Given the description of an element on the screen output the (x, y) to click on. 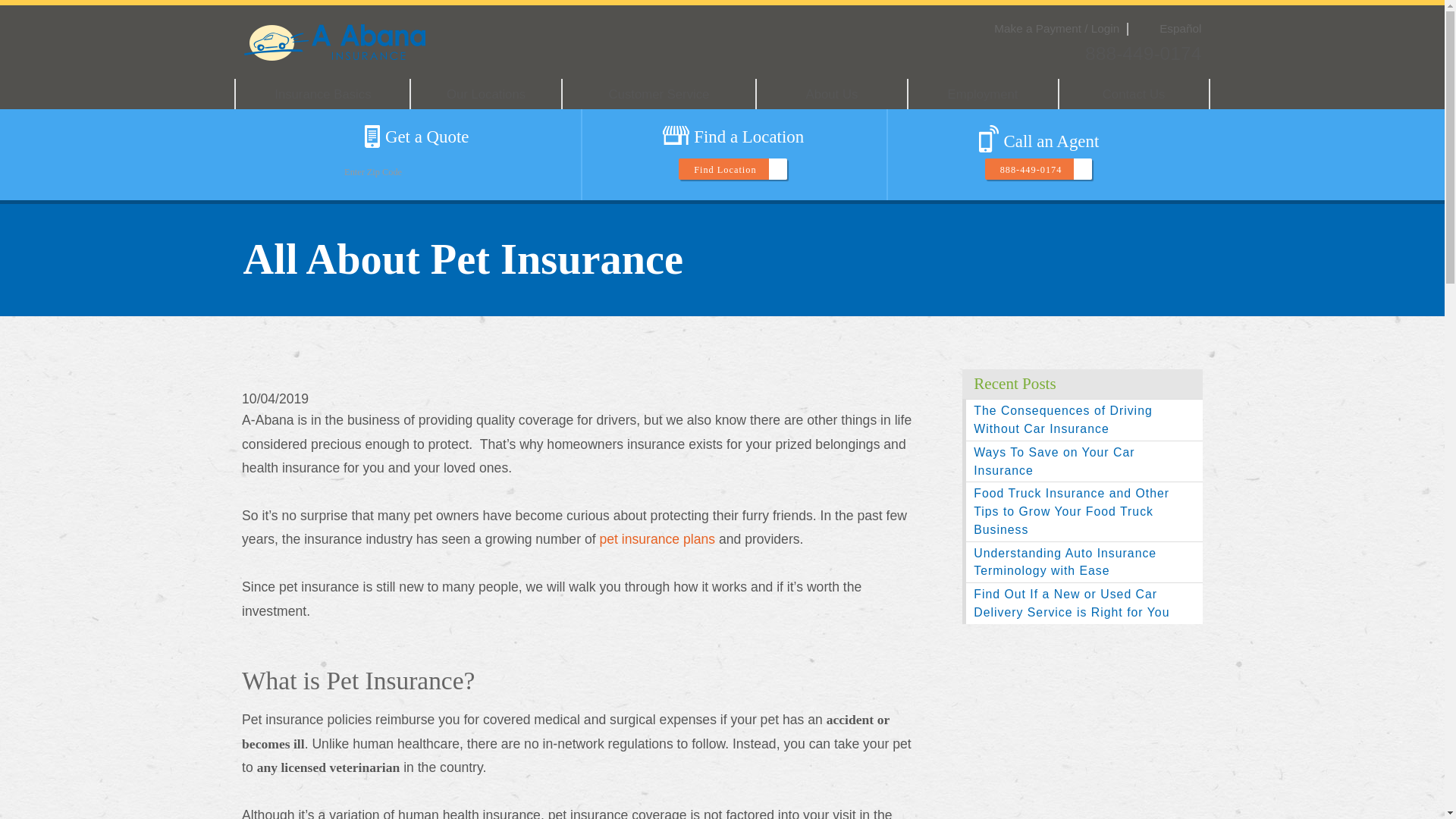
About Us (831, 93)
Customer Service (658, 93)
Insurance Basics (322, 93)
Employment (983, 93)
Our Locations (485, 93)
888-449-0174 (1142, 53)
Contact Us (1133, 93)
